Given the description of an element on the screen output the (x, y) to click on. 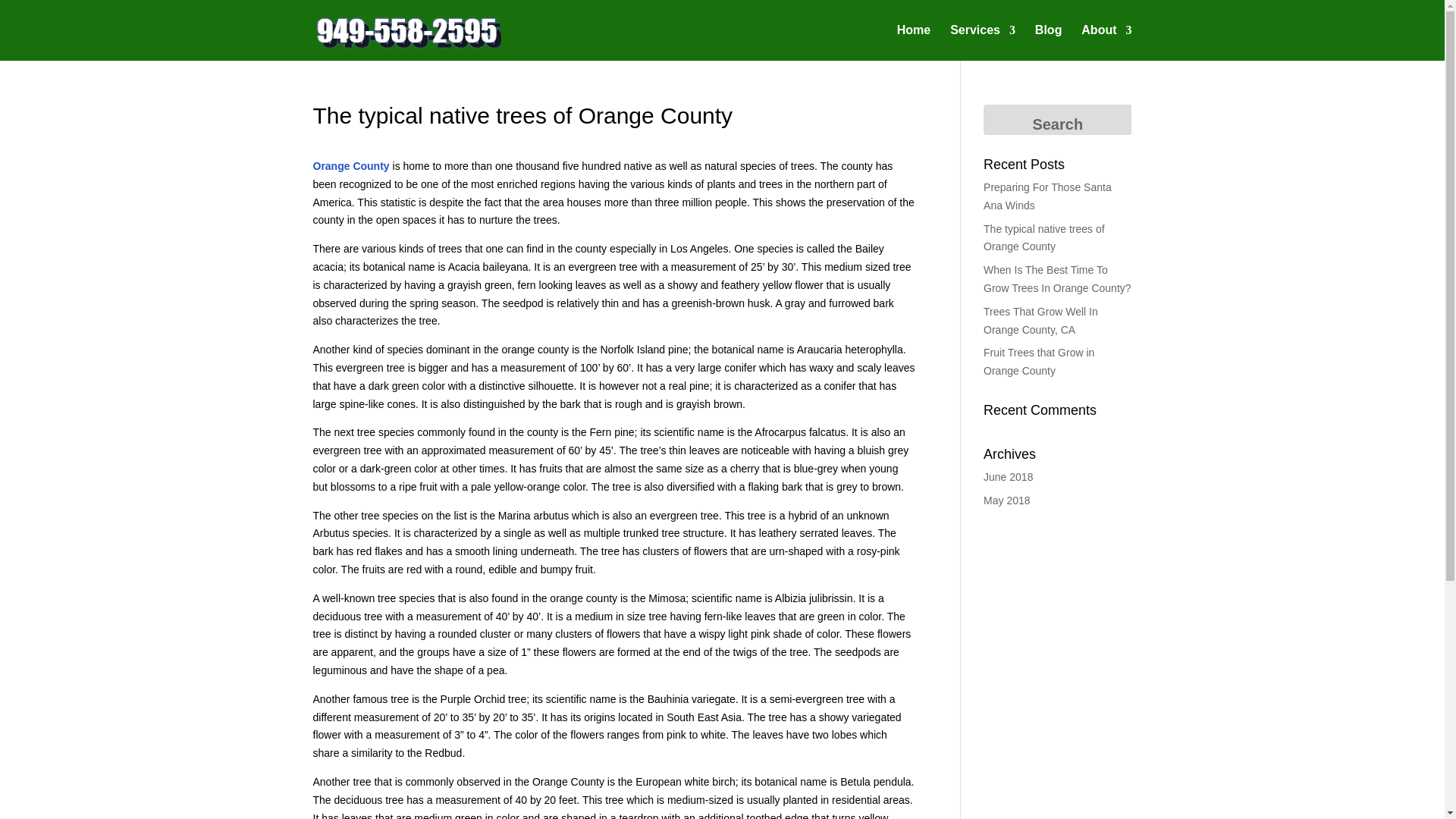
The typical native trees of Orange County (1044, 237)
Preparing For Those Santa Ana Winds (1048, 195)
Trees That Grow Well In Orange County, CA (1040, 320)
Fruit Trees that Grow in Orange County (1039, 361)
Home (913, 42)
June 2018 (1008, 476)
May 2018 (1006, 500)
Services (982, 42)
Search (1057, 119)
About (1106, 42)
